Given the description of an element on the screen output the (x, y) to click on. 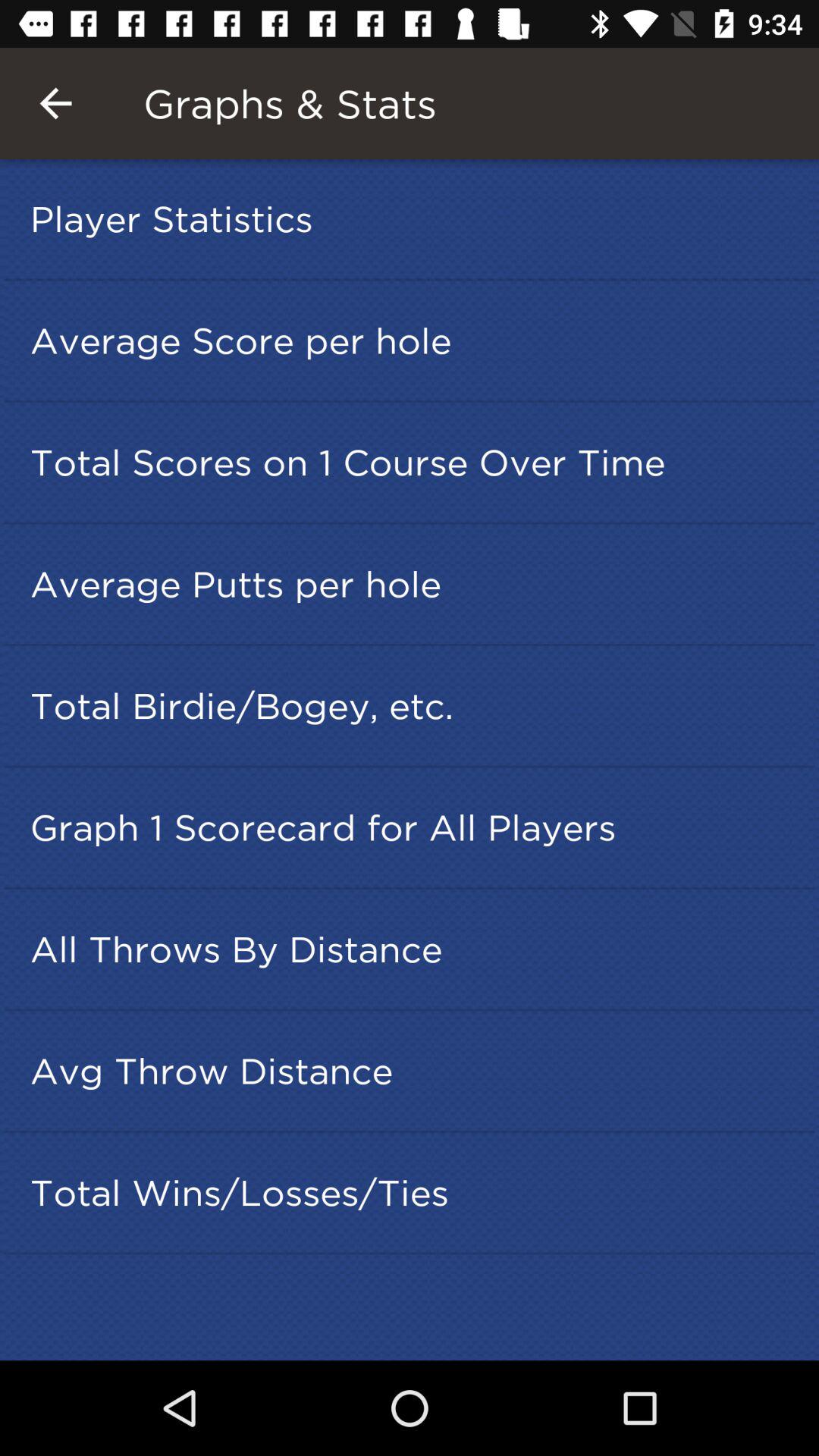
turn off the all throws by (414, 949)
